Given the description of an element on the screen output the (x, y) to click on. 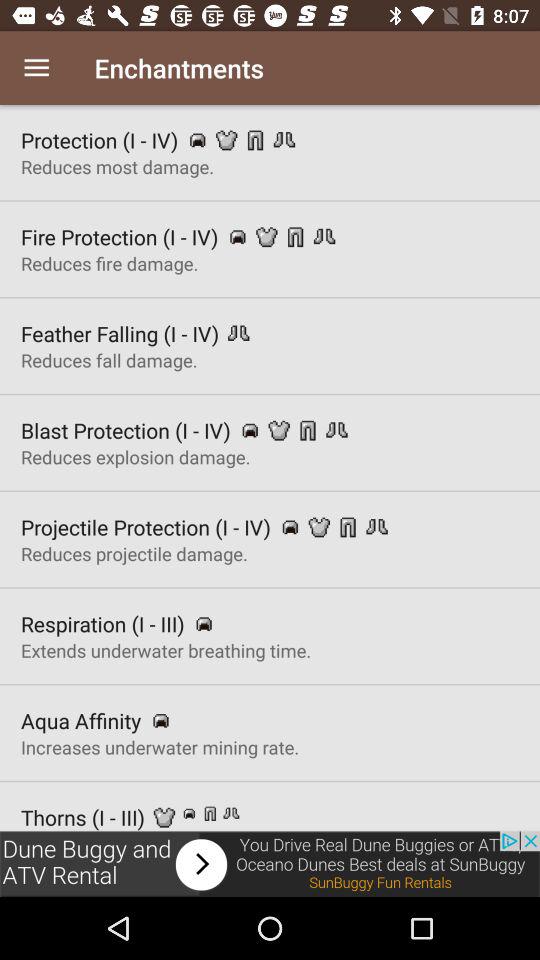
advertisement (270, 864)
